Given the description of an element on the screen output the (x, y) to click on. 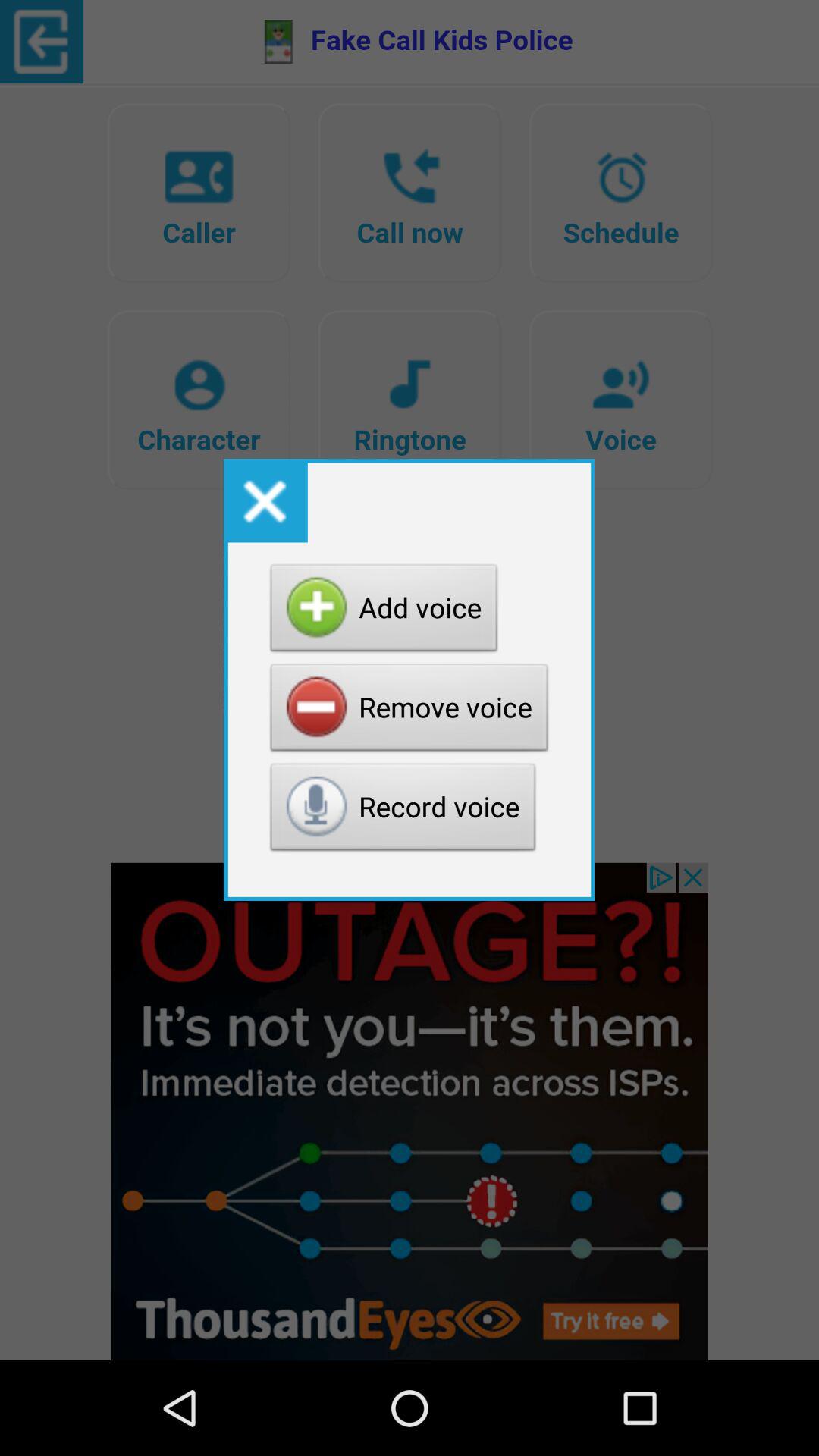
press item above the remove voice (383, 612)
